Given the description of an element on the screen output the (x, y) to click on. 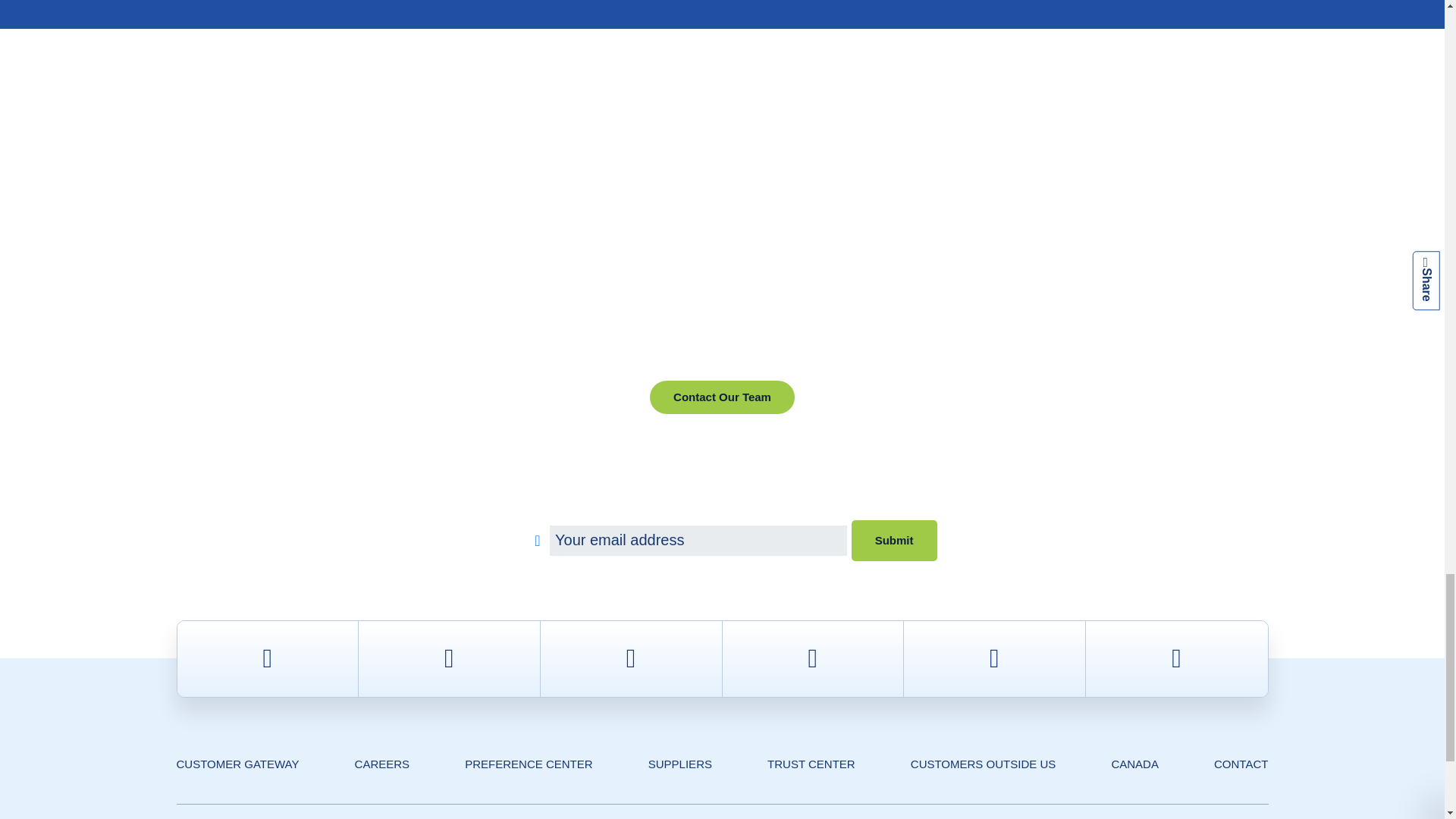
Customer Gateway (237, 763)
Trust Center (811, 763)
Careers (382, 763)
Suppliers (679, 763)
Preference Center (528, 763)
